Given the description of an element on the screen output the (x, y) to click on. 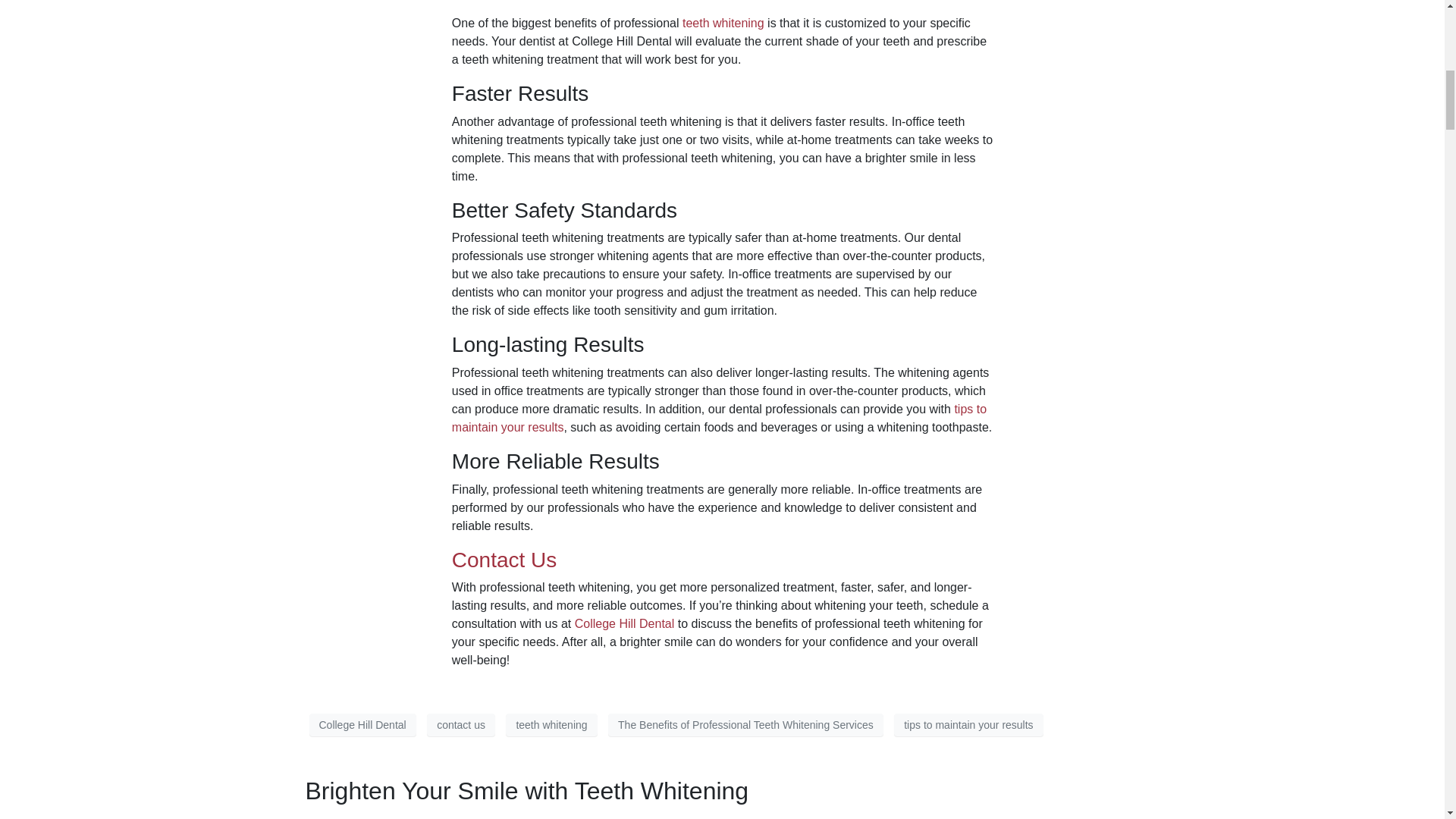
Brighten Your Smile with Teeth Whitening (526, 790)
